Given the description of an element on the screen output the (x, y) to click on. 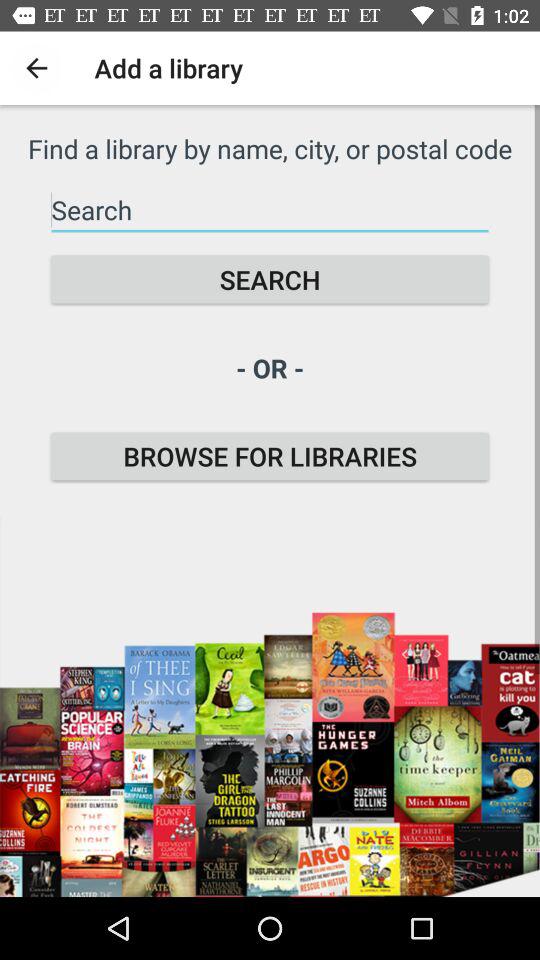
launch icon next to add a library icon (36, 68)
